Given the description of an element on the screen output the (x, y) to click on. 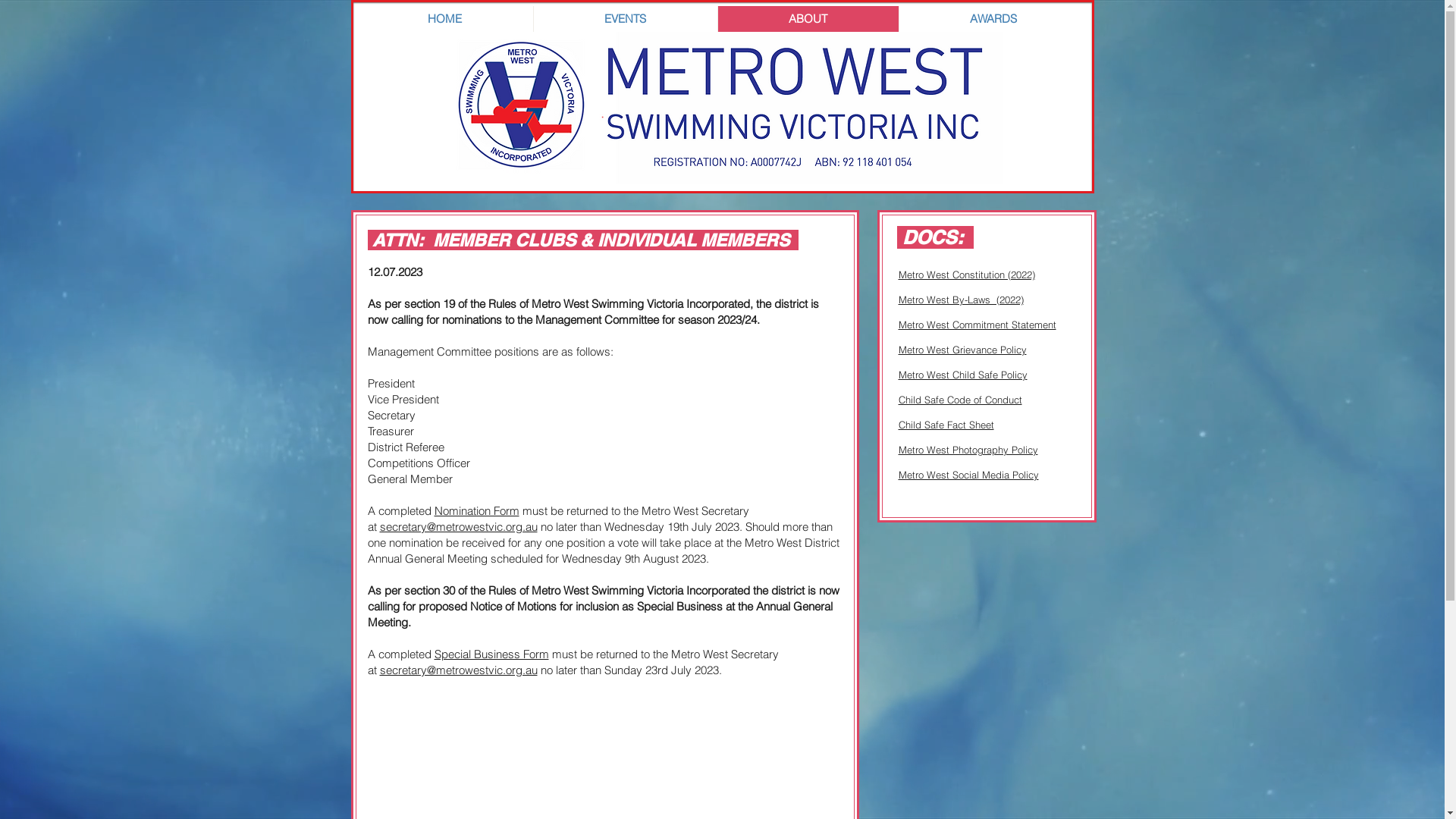
Metro West Photography Policy Element type: text (967, 449)
Metro West Constitution (2022) Element type: text (965, 274)
Metro West Social Media Policy Element type: text (967, 474)
Nomination Form Element type: text (475, 510)
Child Safe Fact Sheet Element type: text (945, 424)
secretary@metrowestvic.org.au Element type: text (457, 669)
HOME Element type: text (444, 18)
Child Safe Code of Conduct Element type: text (959, 399)
EVENTS Element type: text (624, 18)
Metro West By-Laws  (2022) Element type: text (959, 299)
AWARDS Element type: text (992, 18)
ABOUT Element type: text (807, 18)
Special Business Form Element type: text (490, 653)
secretary@metrowestvic.org.au Element type: text (457, 526)
Metro West Grievance Policy Element type: text (961, 349)
Metro West Commitment Statement Element type: text (976, 324)
Metro West Child Safe Policy Element type: text (961, 374)
